Given the description of an element on the screen output the (x, y) to click on. 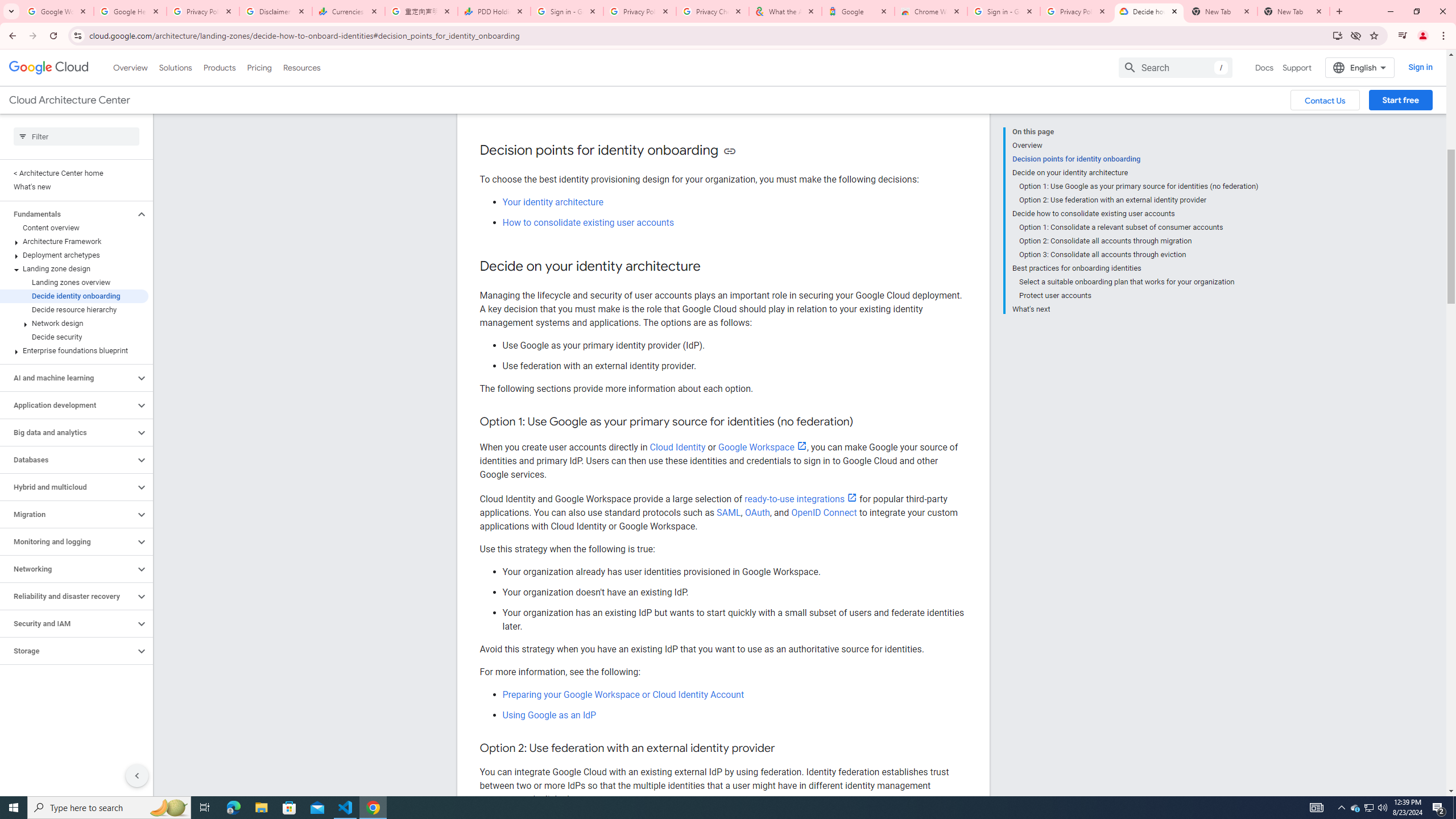
How to consolidate existing user accounts (588, 222)
Landing zones overview (74, 282)
Google Workspace Admin Community (57, 11)
SAML (728, 512)
Decision points for identity onboarding (1134, 159)
Network design (74, 323)
Google (857, 11)
English (1359, 67)
Decide resource hierarchy (74, 309)
